Given the description of an element on the screen output the (x, y) to click on. 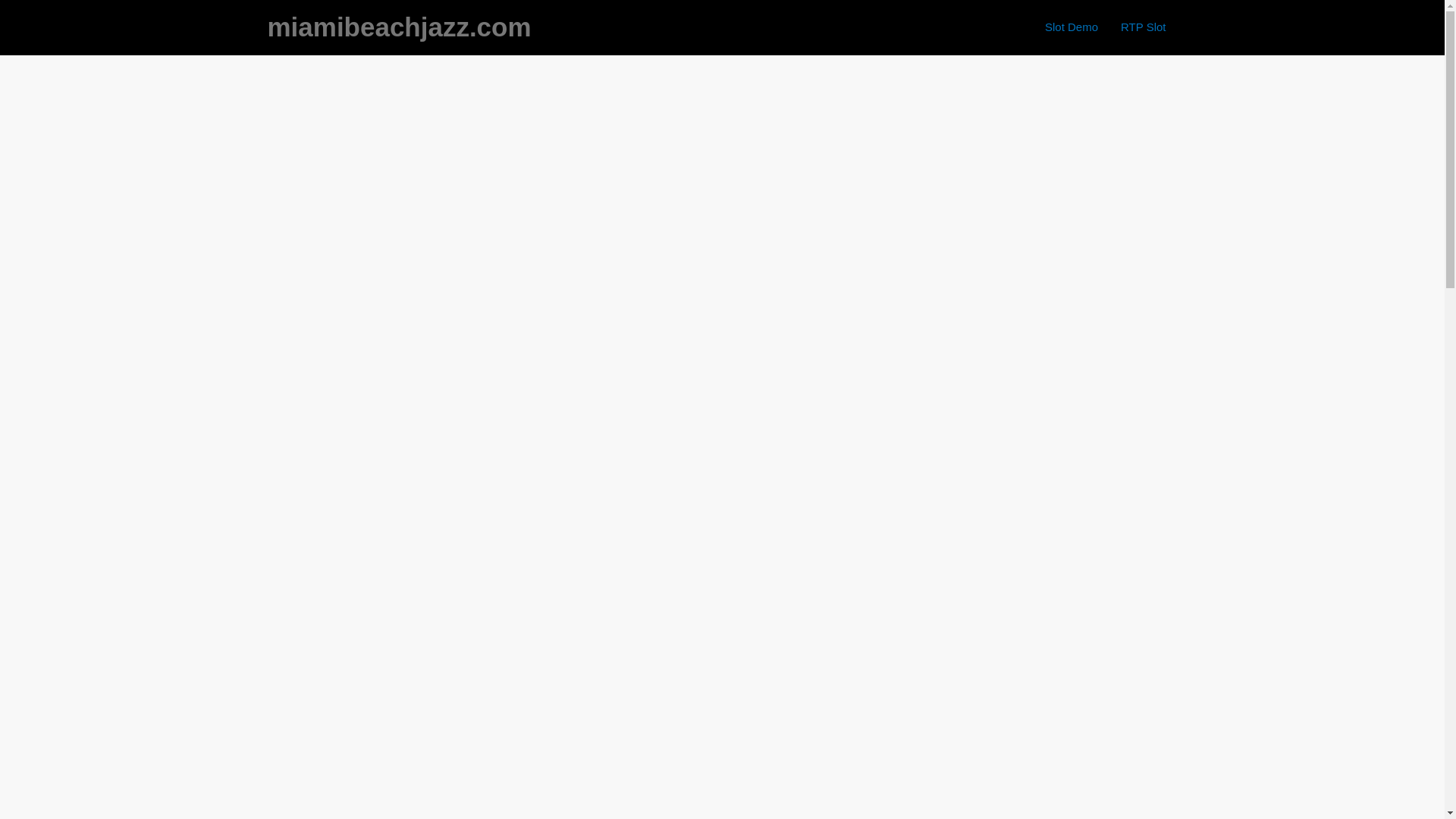
Search (1146, 139)
Slot Demo (1071, 27)
RTP Slot (1142, 27)
admindom (450, 200)
miamibeachjazz.com (398, 26)
View all posts by admindom (450, 200)
Gambling (373, 200)
